Given the description of an element on the screen output the (x, y) to click on. 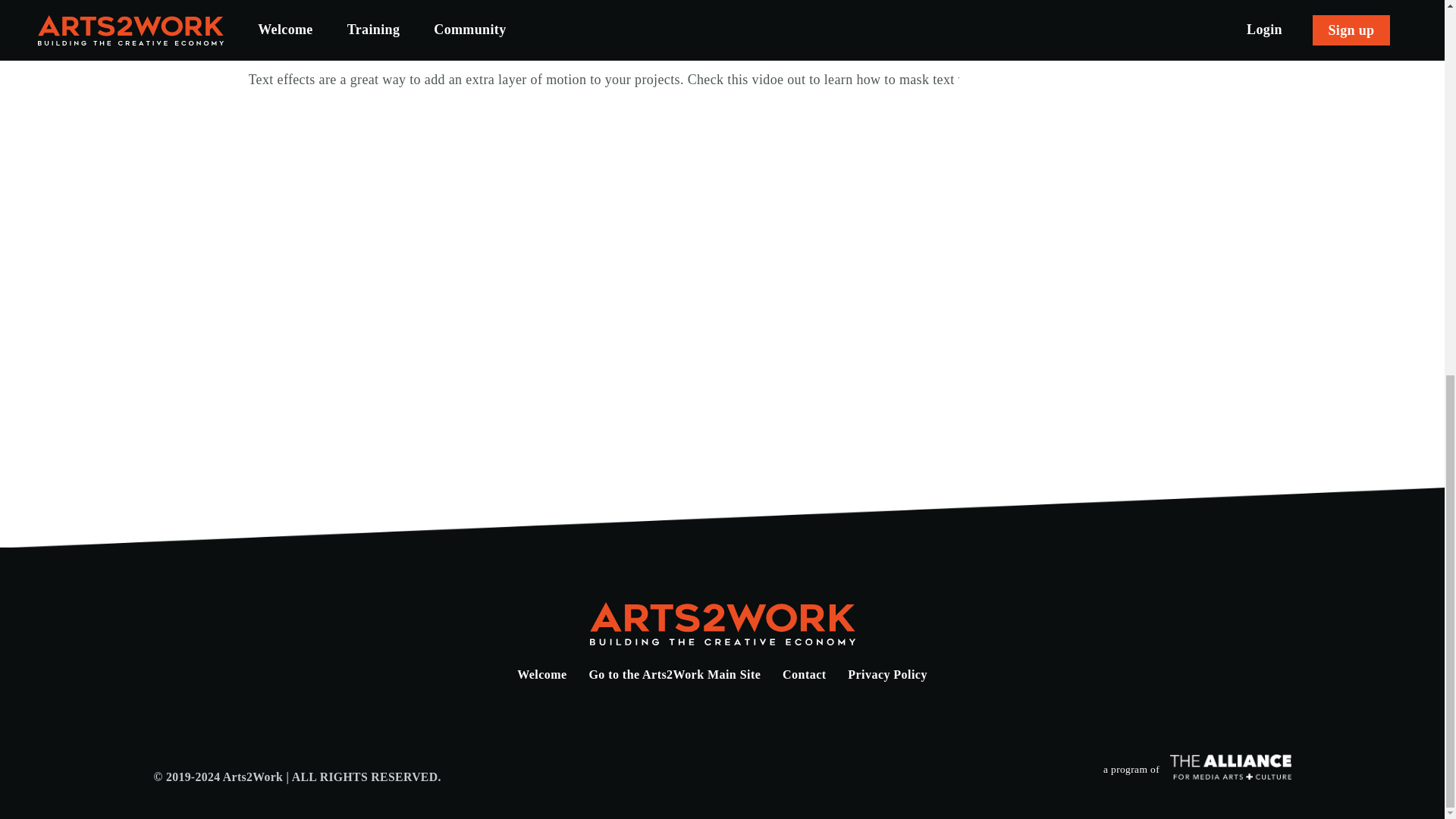
Contact (804, 674)
Overview (279, 8)
Privacy Policy (887, 674)
Go to the Arts2Work Main Site (674, 674)
Welcome (541, 674)
About Justin Odisho (422, 7)
